Given the description of an element on the screen output the (x, y) to click on. 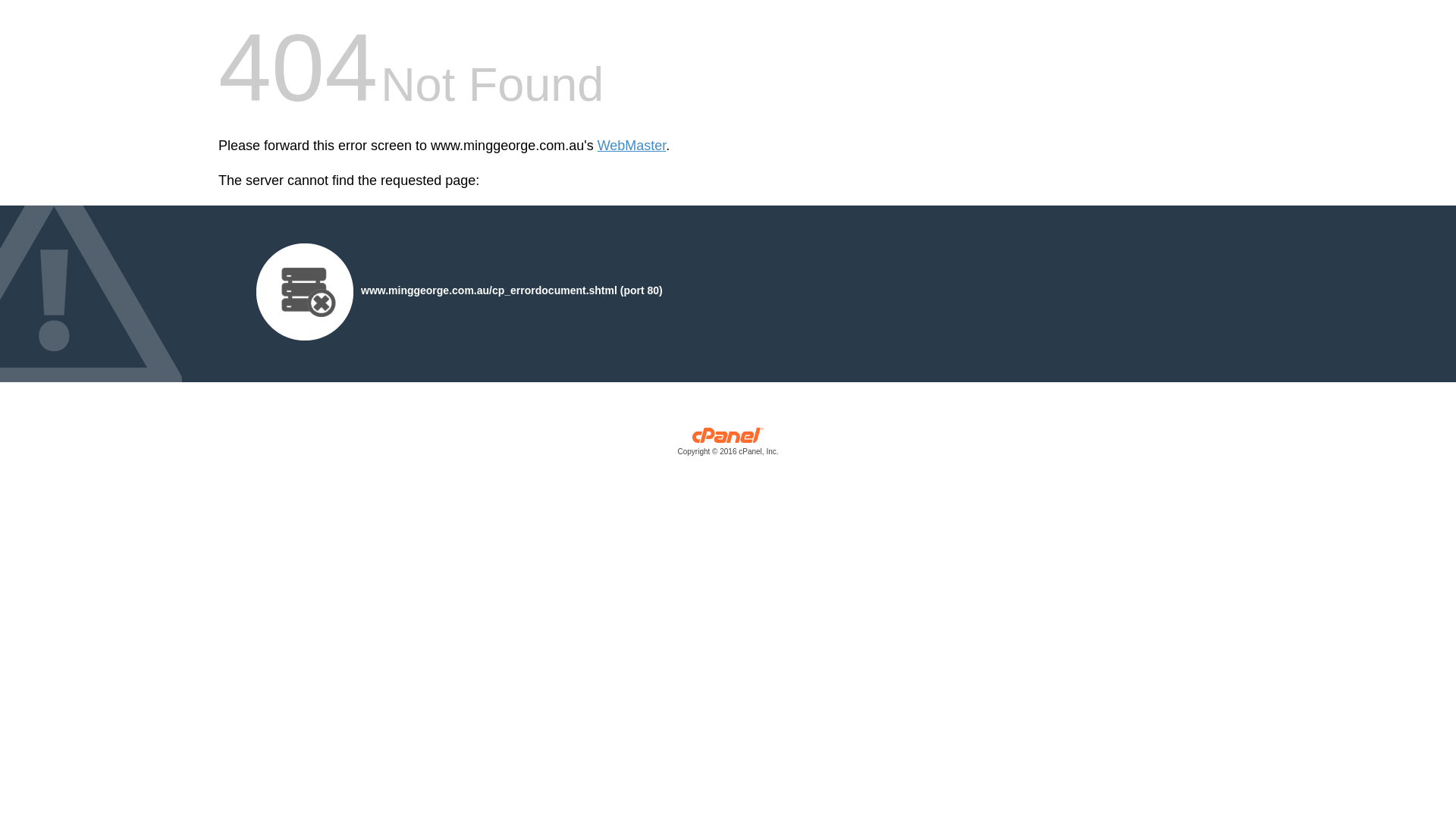
WebMaster Element type: text (631, 145)
